Given the description of an element on the screen output the (x, y) to click on. 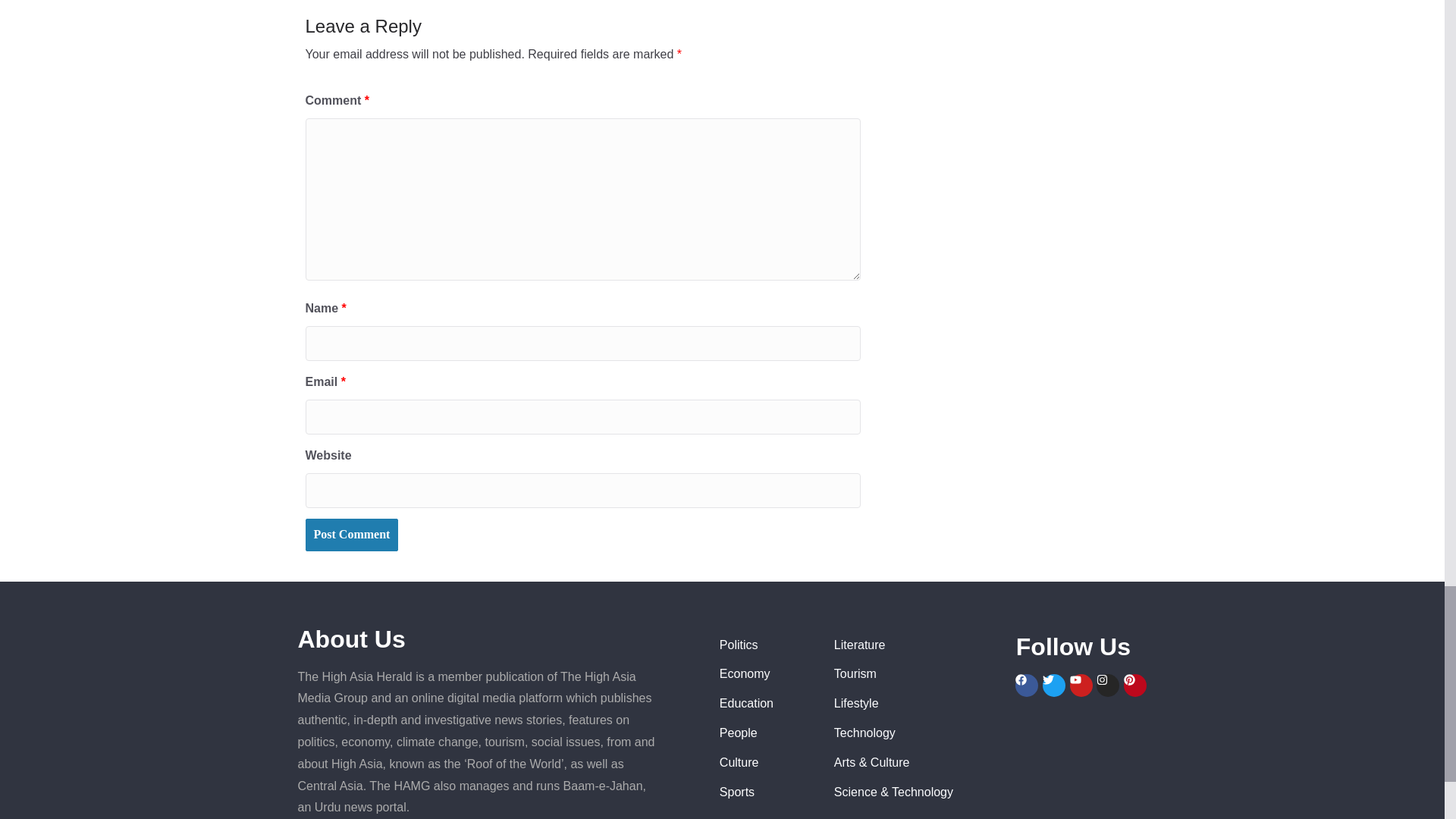
Sports (764, 792)
Culture (764, 762)
Post Comment (350, 534)
Economy (764, 674)
Politics (764, 645)
Tourism (917, 674)
Literature (917, 645)
People (764, 733)
Lifestyle (917, 703)
Technology (917, 733)
Education (764, 703)
Post Comment (350, 534)
